Given the description of an element on the screen output the (x, y) to click on. 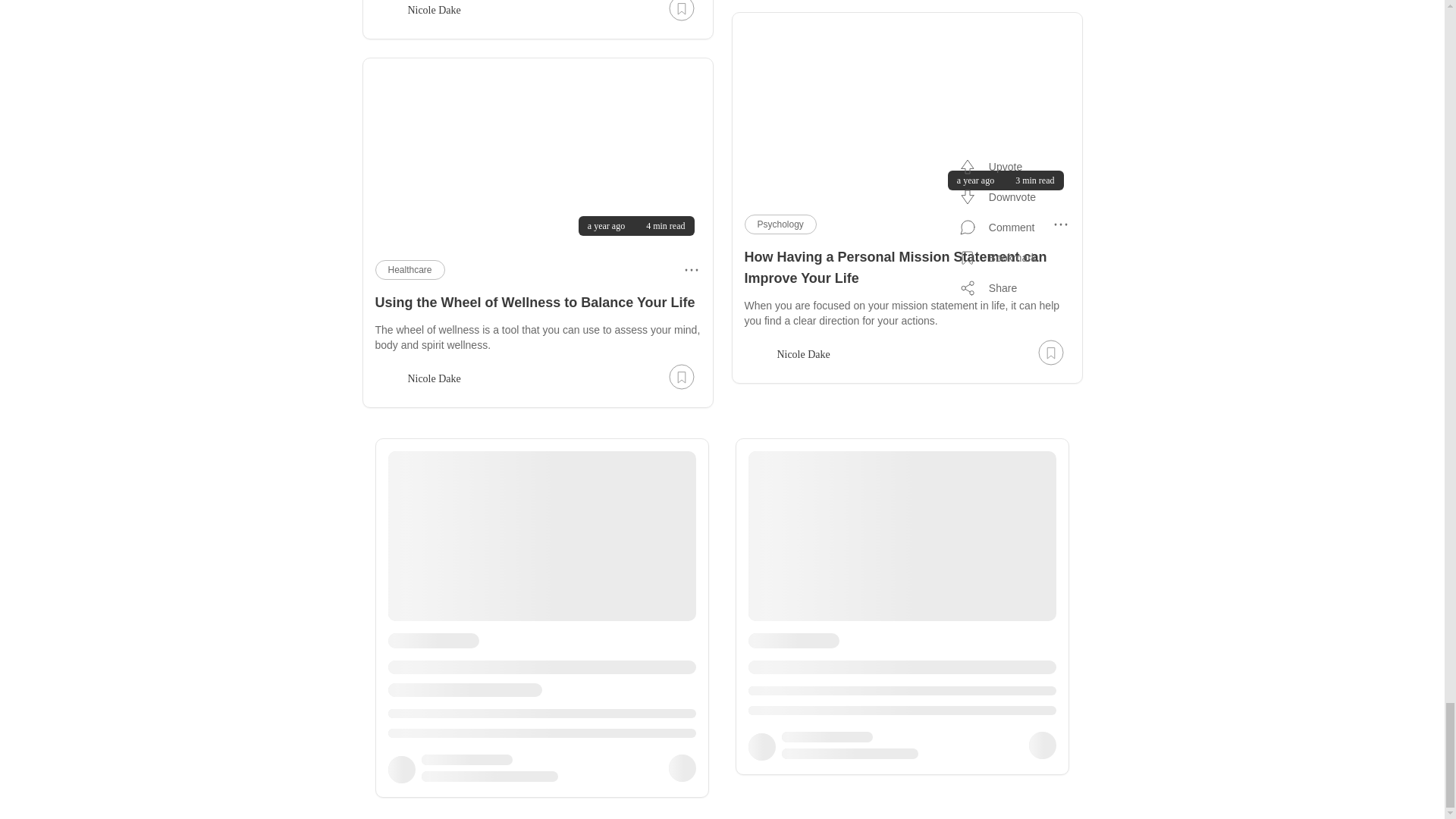
Psychology (780, 224)
